Given the description of an element on the screen output the (x, y) to click on. 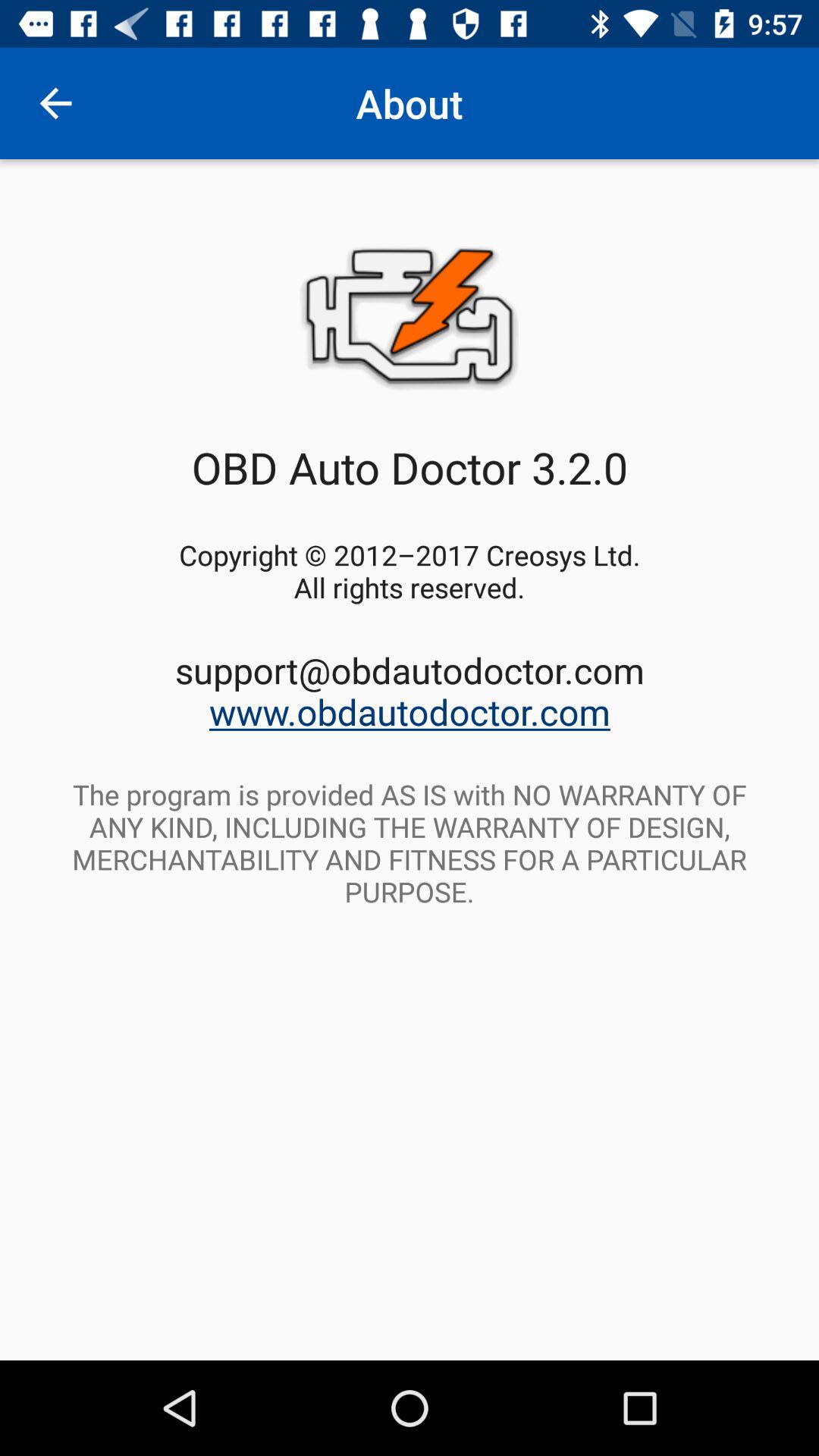
choose the icon next to the about icon (55, 103)
